Given the description of an element on the screen output the (x, y) to click on. 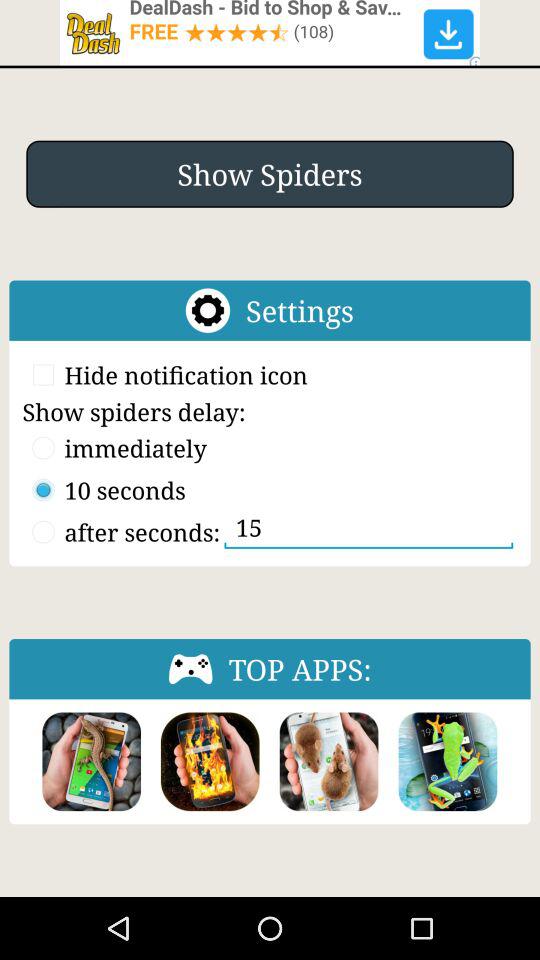
go to app download page (328, 761)
